Given the description of an element on the screen output the (x, y) to click on. 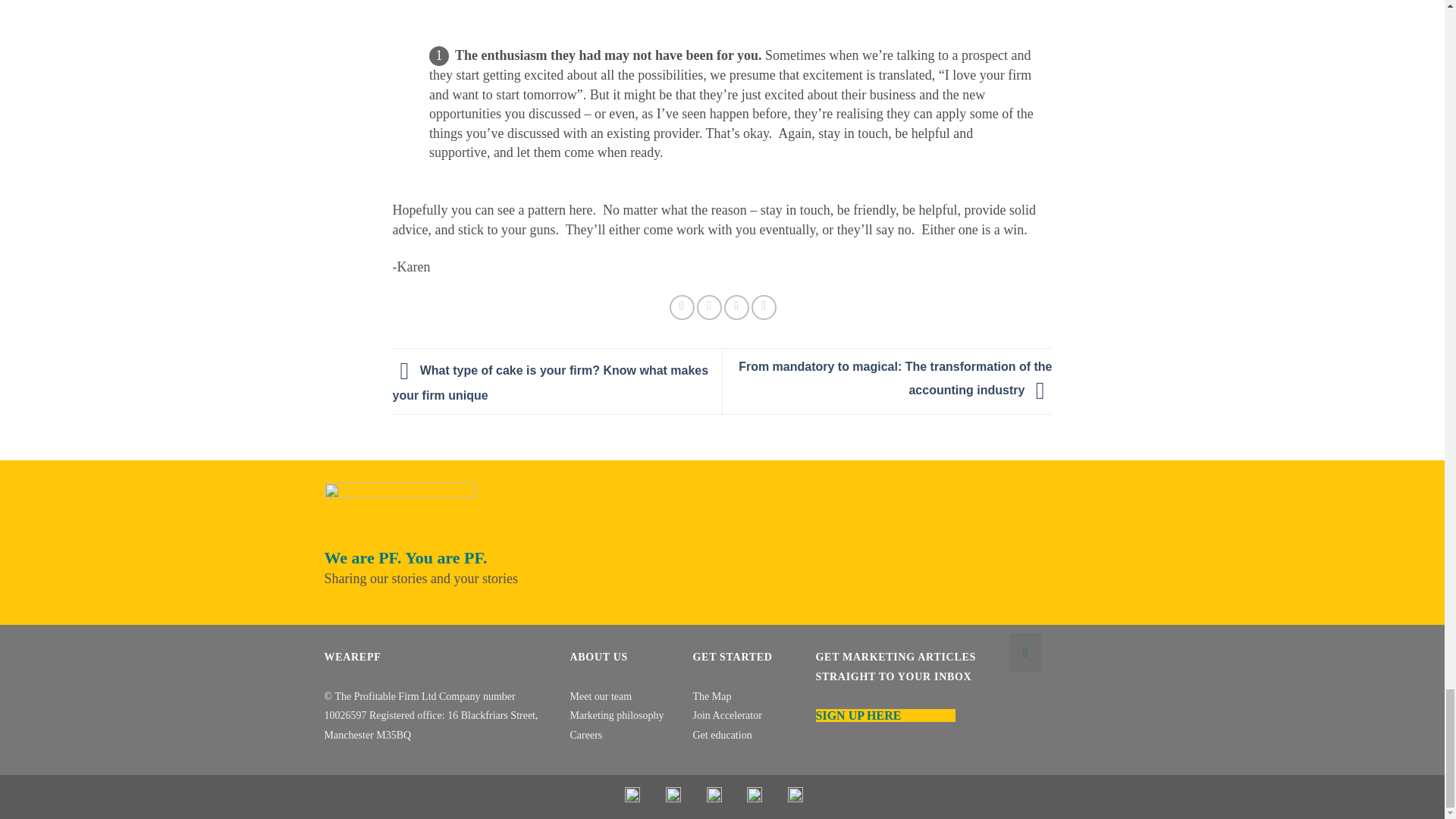
Pin on Pinterest (736, 307)
Share on Tumblr (763, 307)
Share on Facebook (681, 307)
Email to a Friend (709, 307)
